Given the description of an element on the screen output the (x, y) to click on. 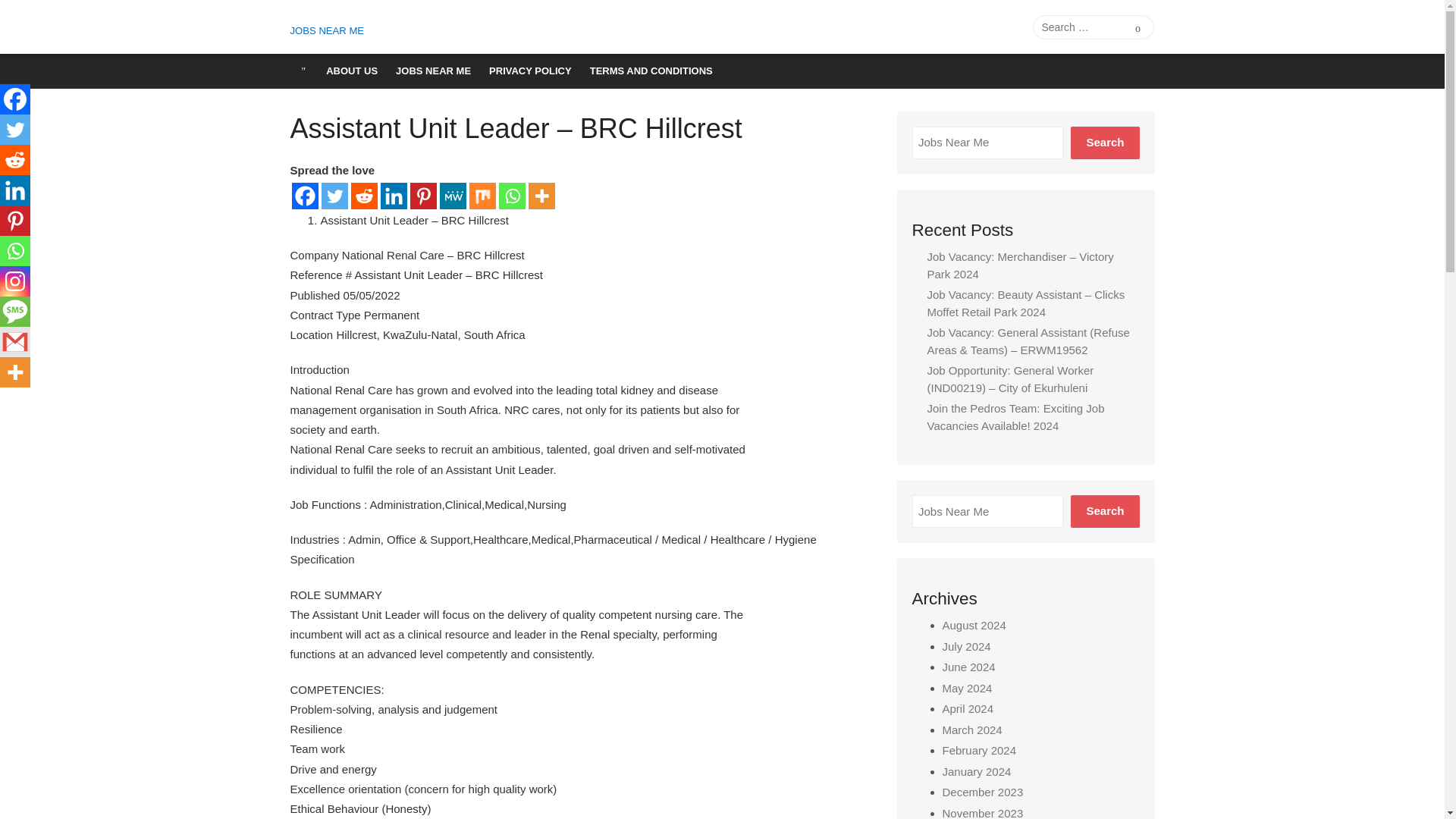
MeWe (452, 195)
Twitter (15, 129)
Search (1137, 27)
PRIVACY POLICY (530, 71)
Linkedin (393, 195)
TERMS AND CONDITIONS (651, 71)
ABOUT US (352, 71)
Mix (481, 195)
Pinterest (422, 195)
JOBS NEAR ME (433, 71)
